Given the description of an element on the screen output the (x, y) to click on. 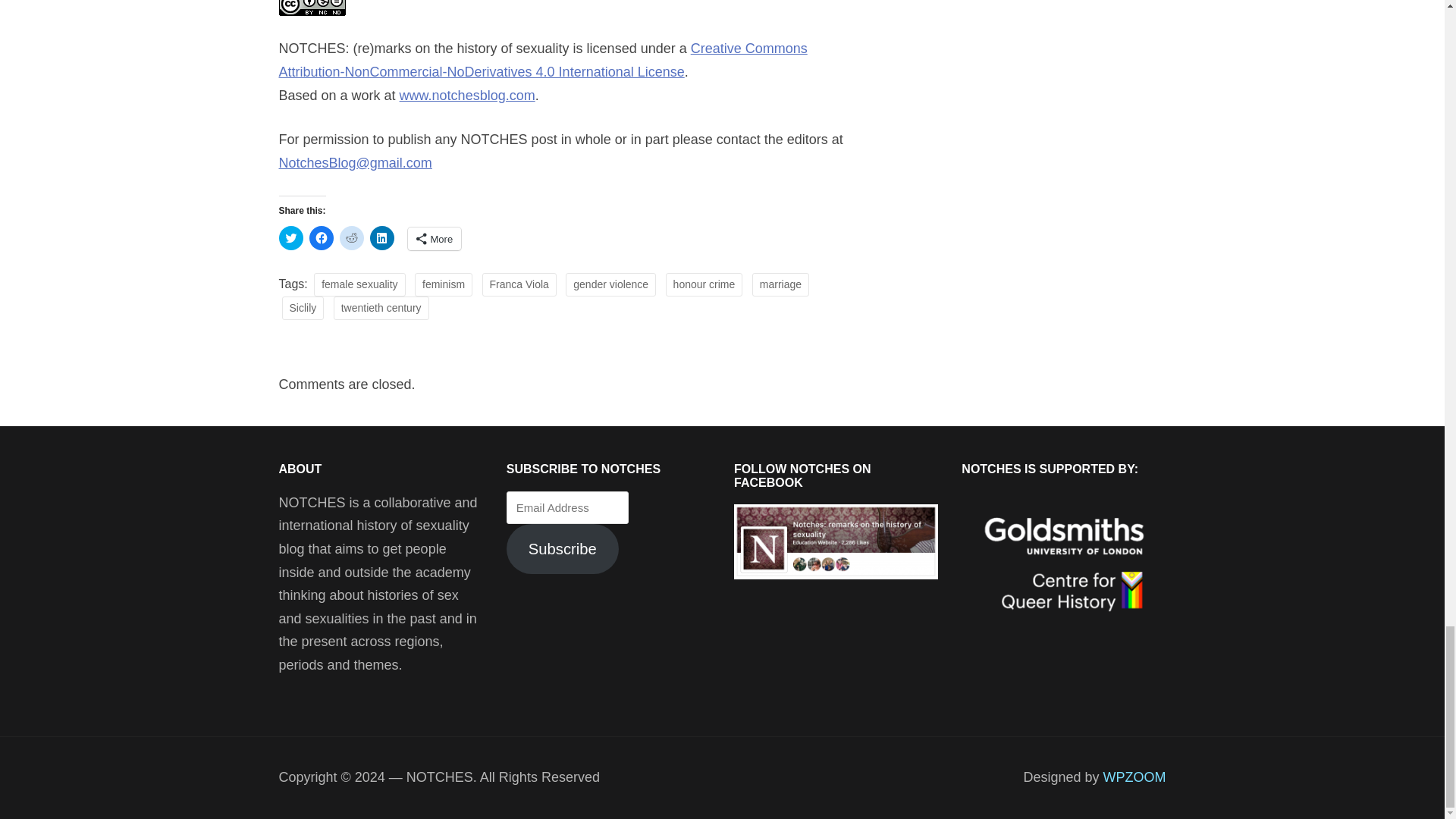
Click to share on LinkedIn (381, 238)
Click to share on Twitter (290, 238)
NOTCHES is supported by: (1063, 564)
Click to share on Facebook (320, 238)
www.notchesblog.com (466, 95)
Click to share on Reddit (351, 238)
